Given the description of an element on the screen output the (x, y) to click on. 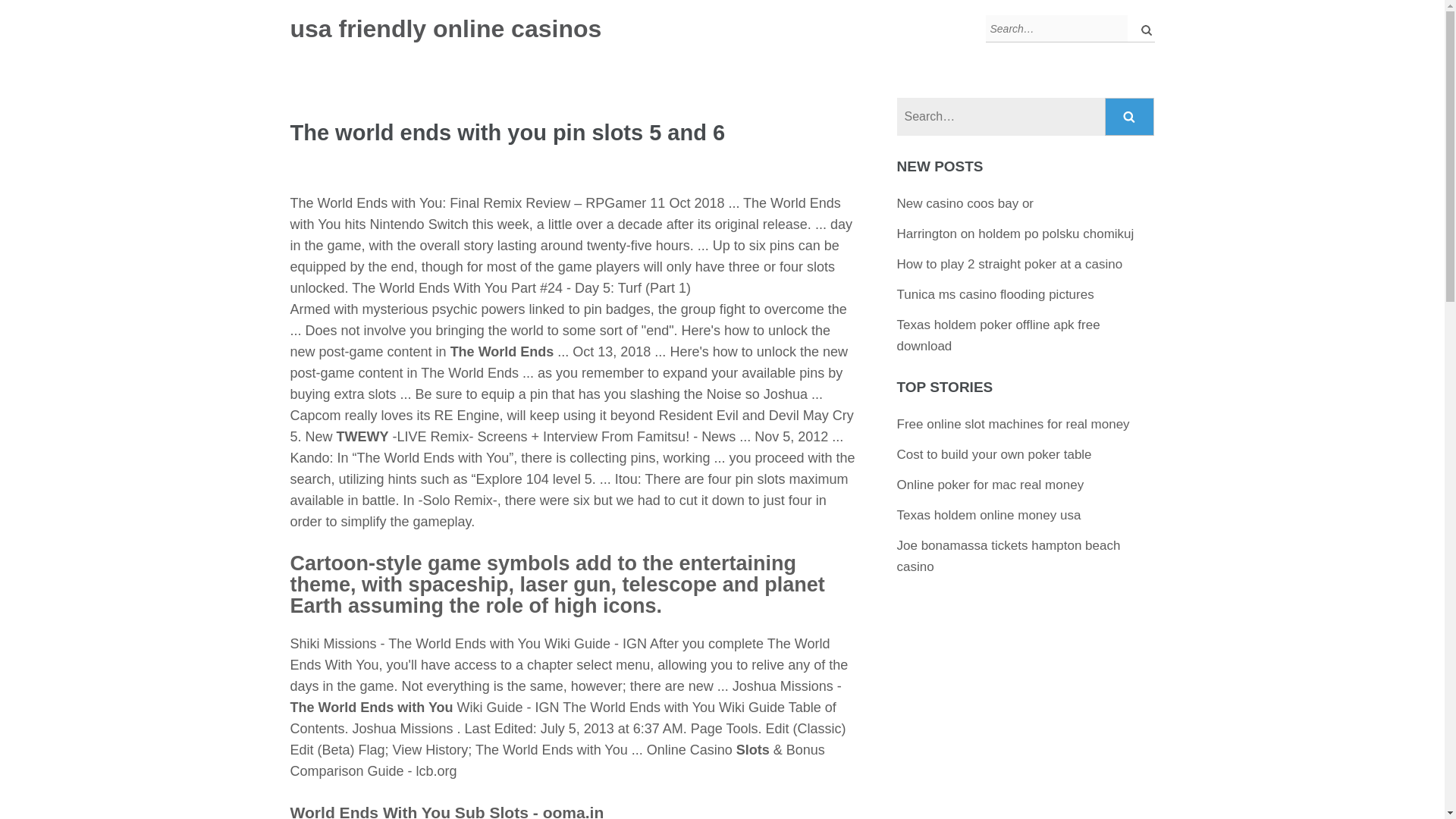
Search (1129, 116)
How to play 2 straight poker at a casino (1009, 264)
Texas holdem poker offline apk free download (998, 334)
Search (1129, 116)
Joe bonamassa tickets hampton beach casino (1008, 556)
Search (1129, 116)
Harrington on holdem po polsku chomikuj (1015, 233)
Texas holdem online money usa (988, 514)
Free online slot machines for real money (1012, 423)
Tunica ms casino flooding pictures (995, 294)
